Given the description of an element on the screen output the (x, y) to click on. 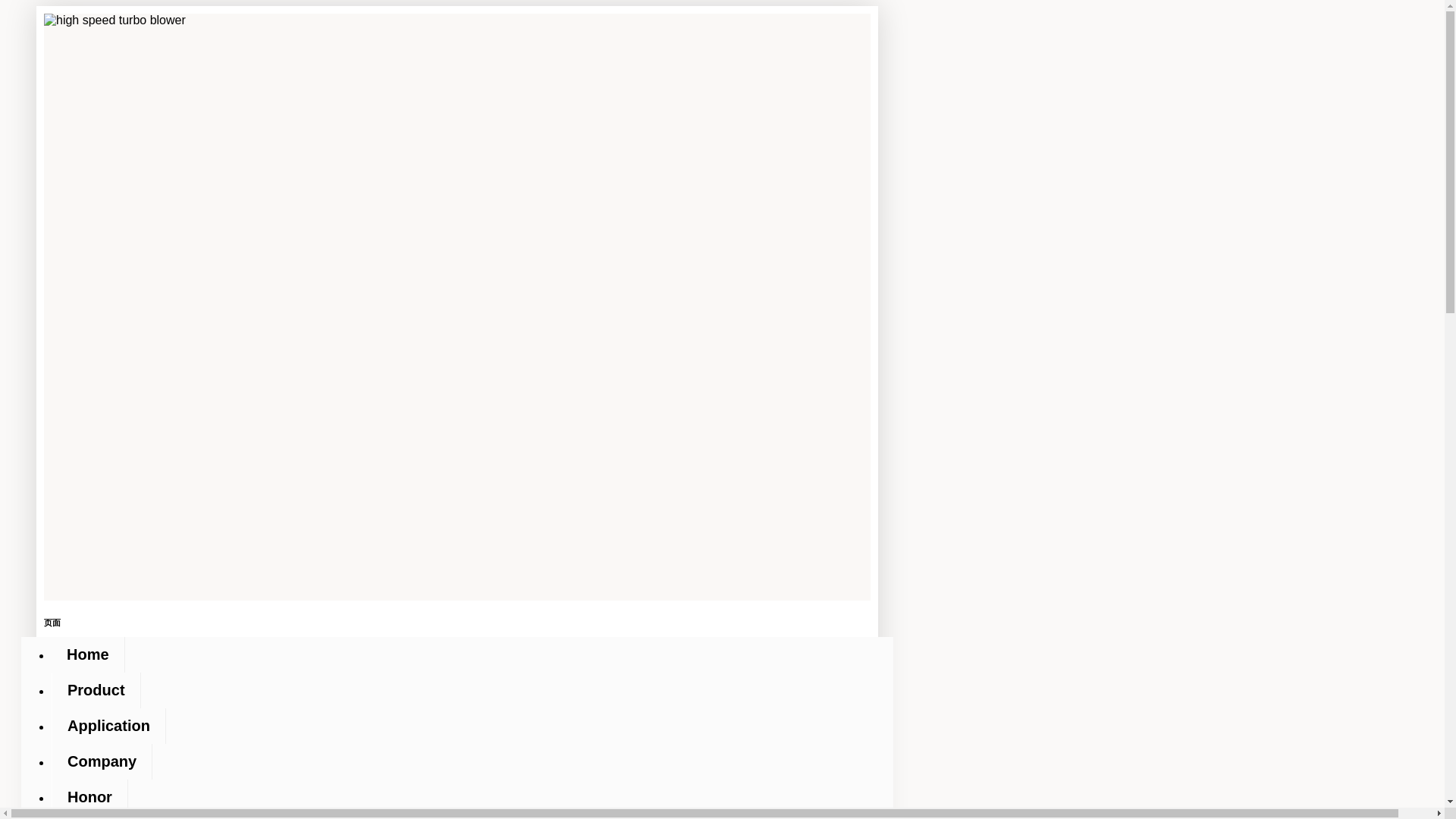
Company (101, 761)
Product (95, 690)
Catalog (94, 816)
Application (107, 725)
Honor (89, 796)
Home (87, 654)
